Given the description of an element on the screen output the (x, y) to click on. 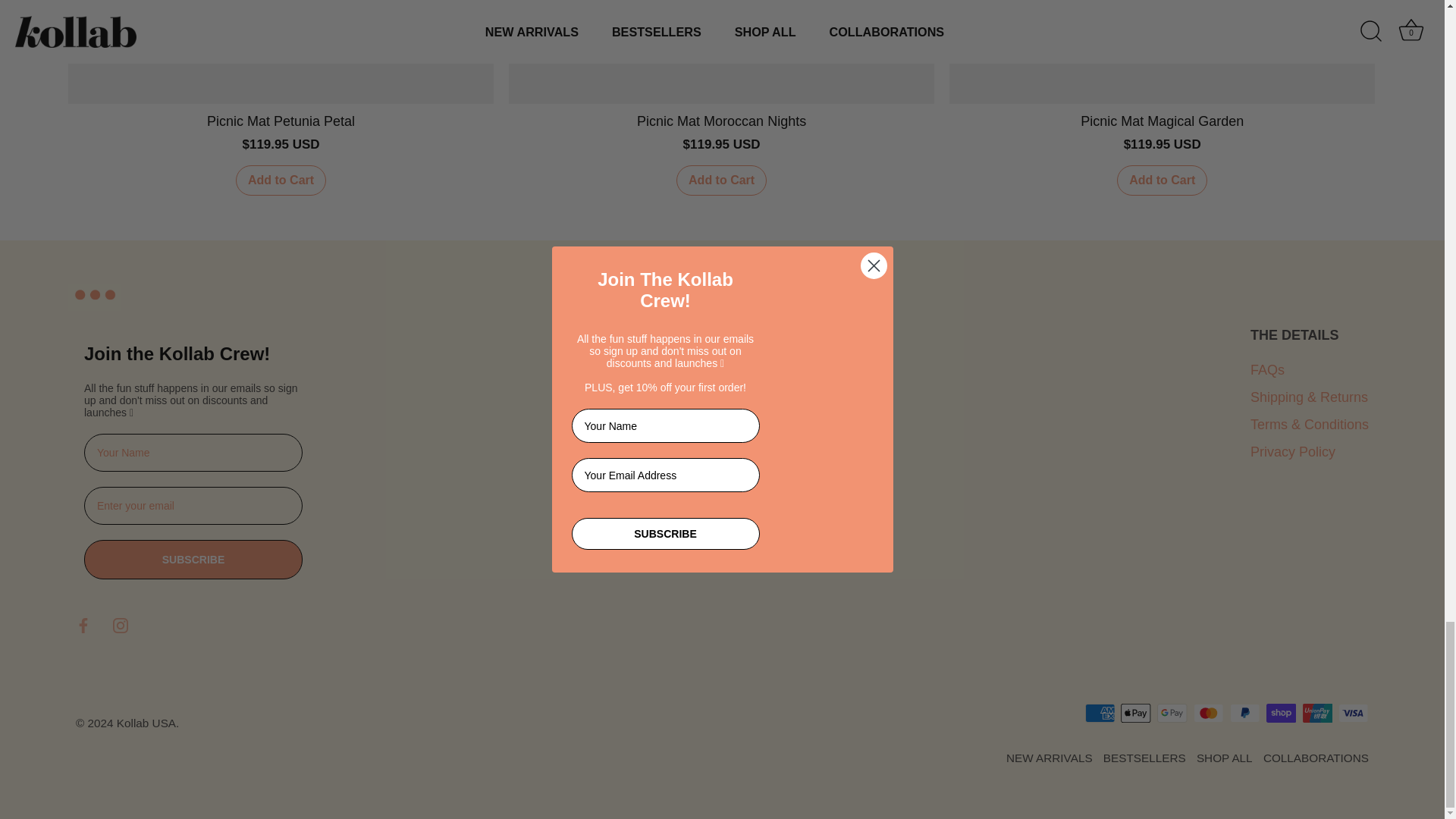
PayPal (1244, 712)
Instagram (120, 625)
American Express (1099, 712)
Visa (1353, 712)
Mastercard (1208, 712)
Union Pay (1317, 712)
Apple Pay (1135, 712)
Google Pay (1171, 712)
Shop Pay (1280, 712)
design box (262, 722)
